Given the description of an element on the screen output the (x, y) to click on. 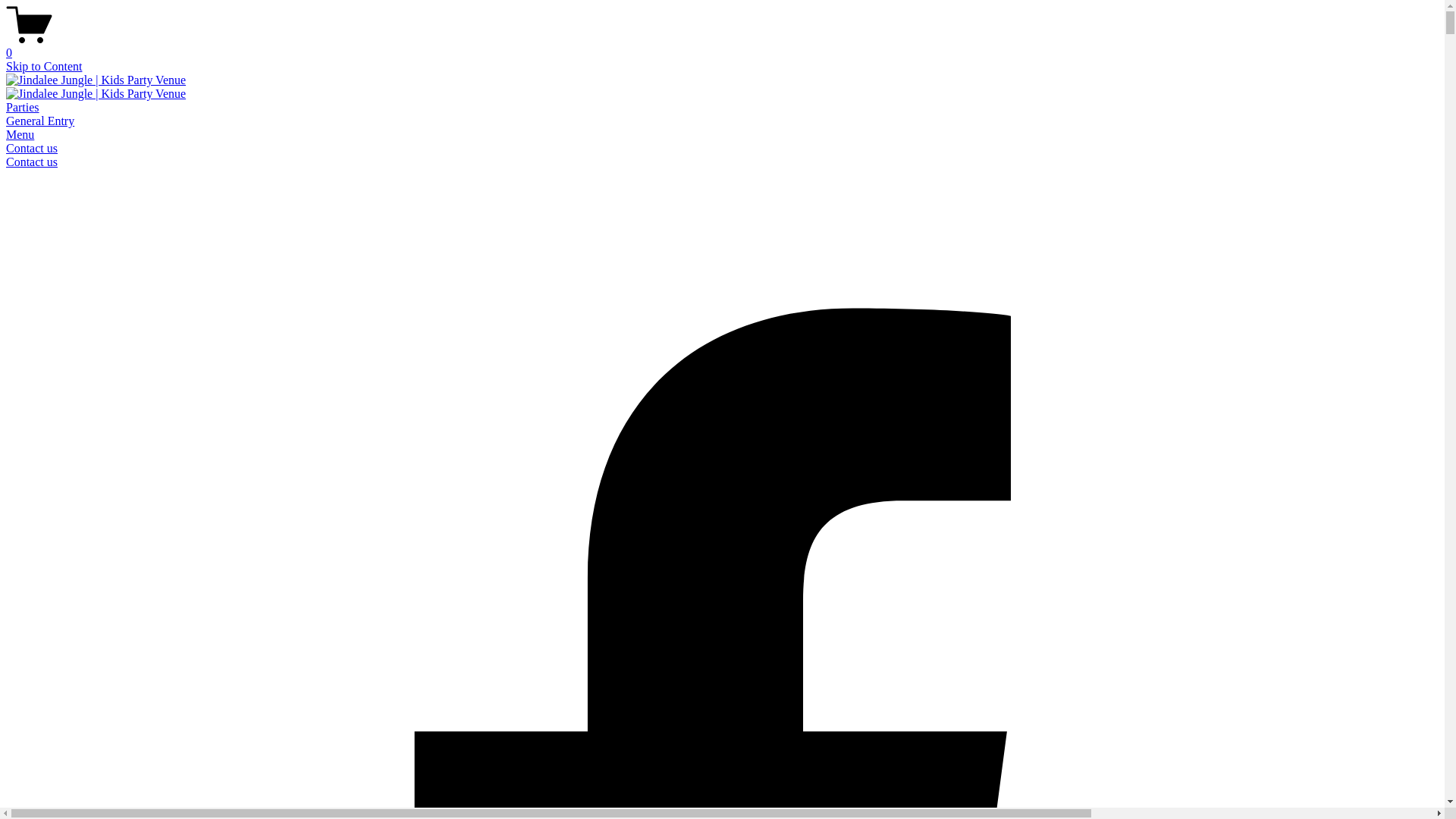
Contact us Element type: text (31, 147)
Skip to Content Element type: text (43, 65)
Parties Element type: text (22, 106)
Menu Element type: text (20, 134)
General Entry Element type: text (40, 120)
0 Element type: text (722, 45)
Contact us Element type: text (31, 161)
